Given the description of an element on the screen output the (x, y) to click on. 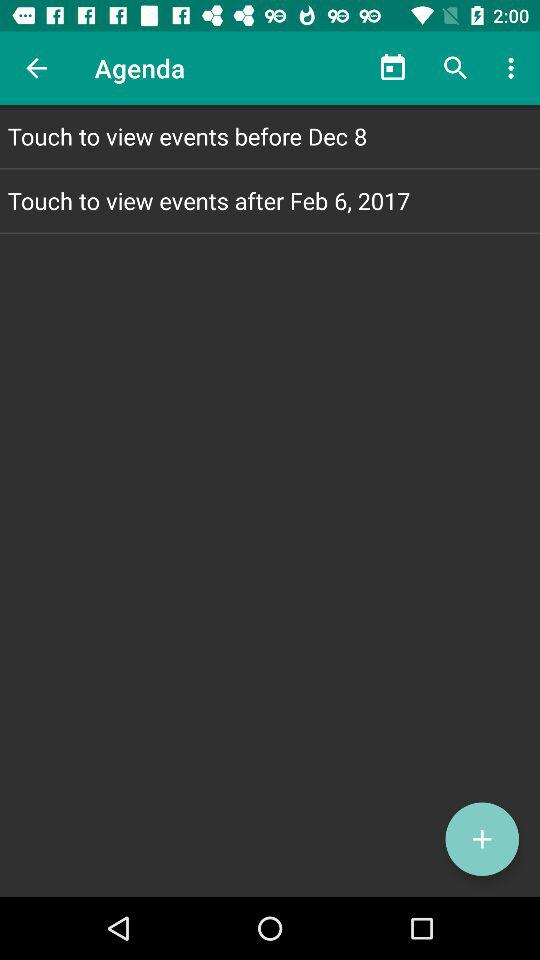
turn on item at the bottom right corner (482, 839)
